Given the description of an element on the screen output the (x, y) to click on. 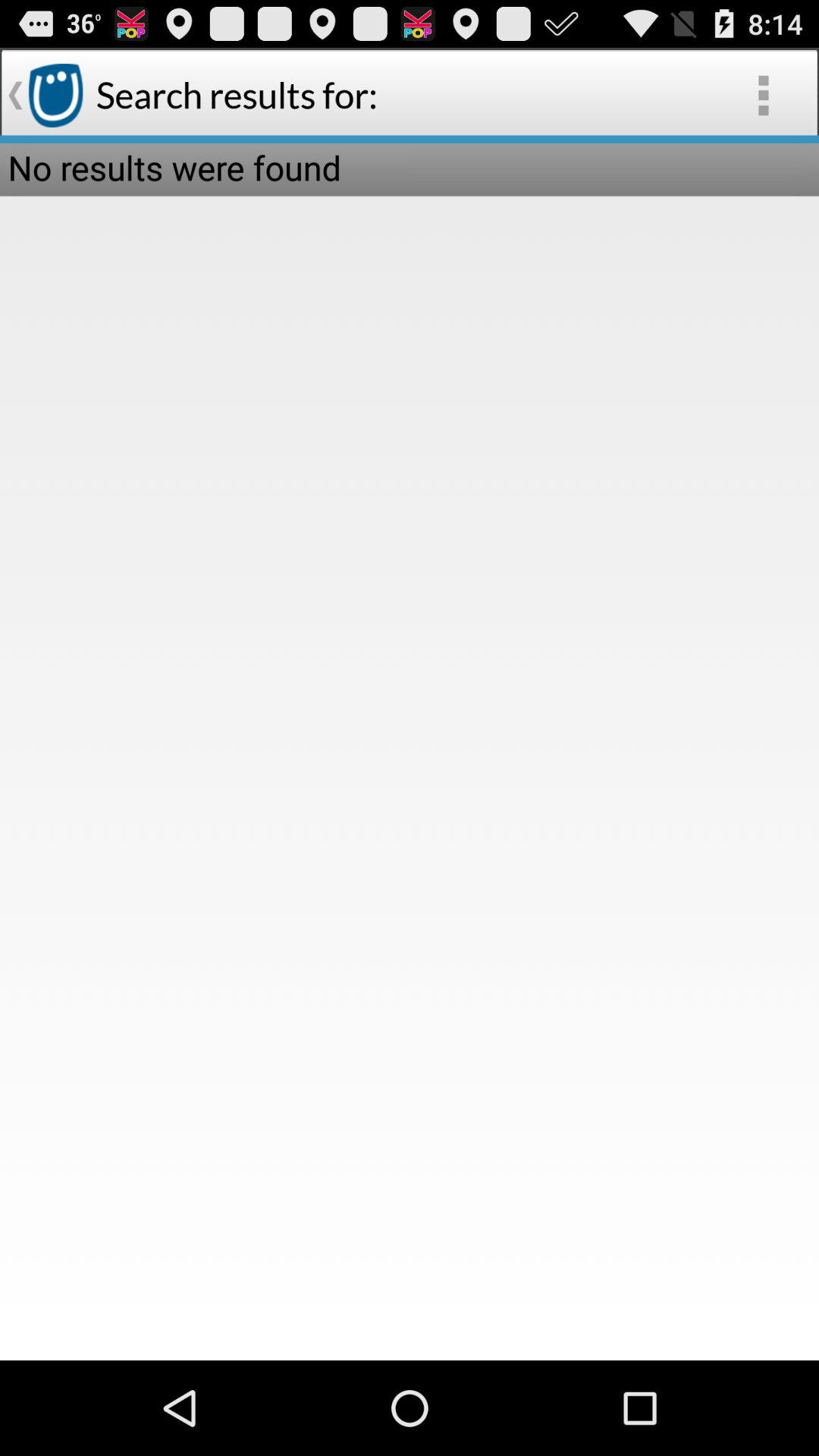
open the item at the top right corner (763, 95)
